Given the description of an element on the screen output the (x, y) to click on. 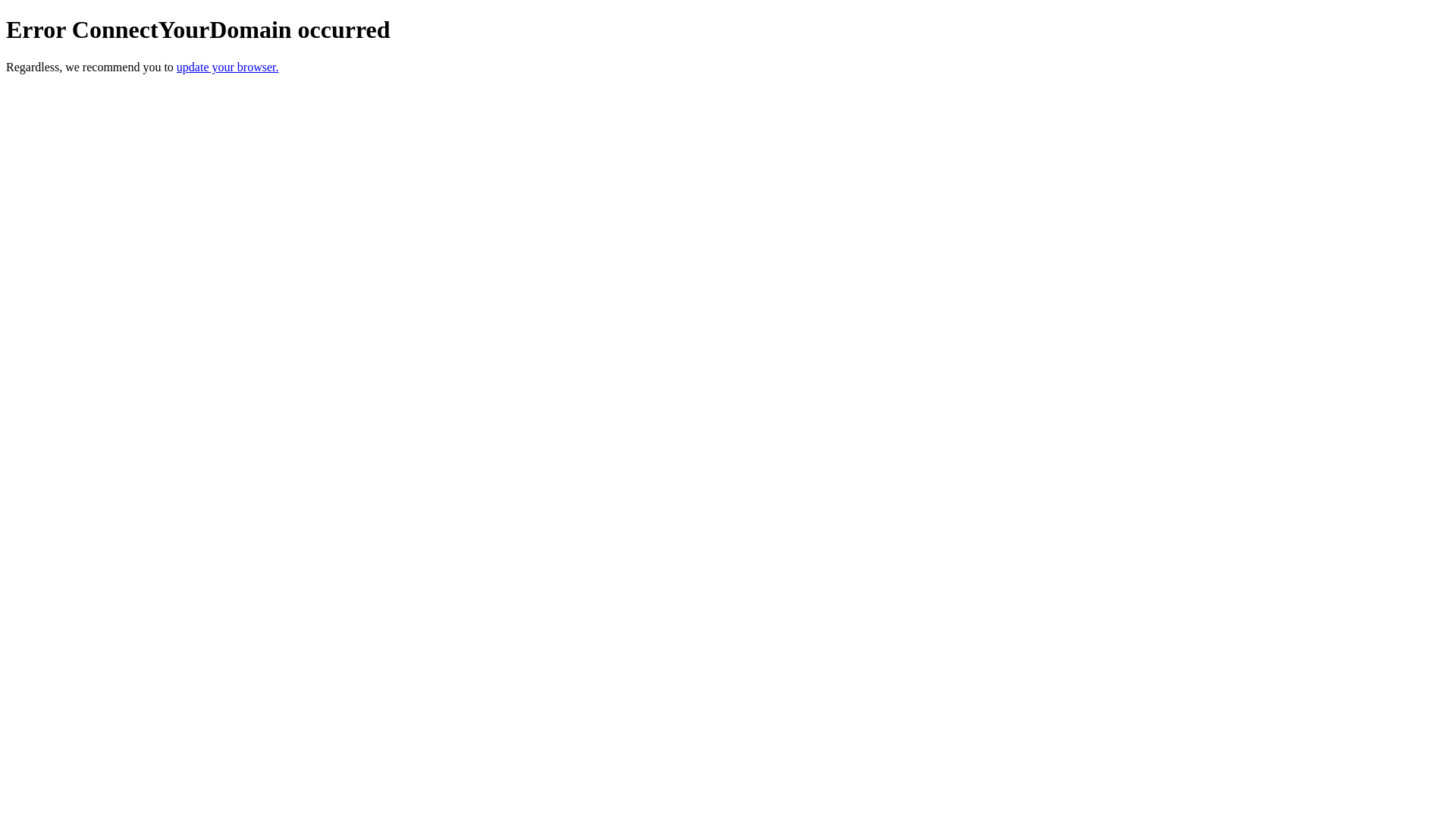
update your browser. Element type: text (227, 66)
